Given the description of an element on the screen output the (x, y) to click on. 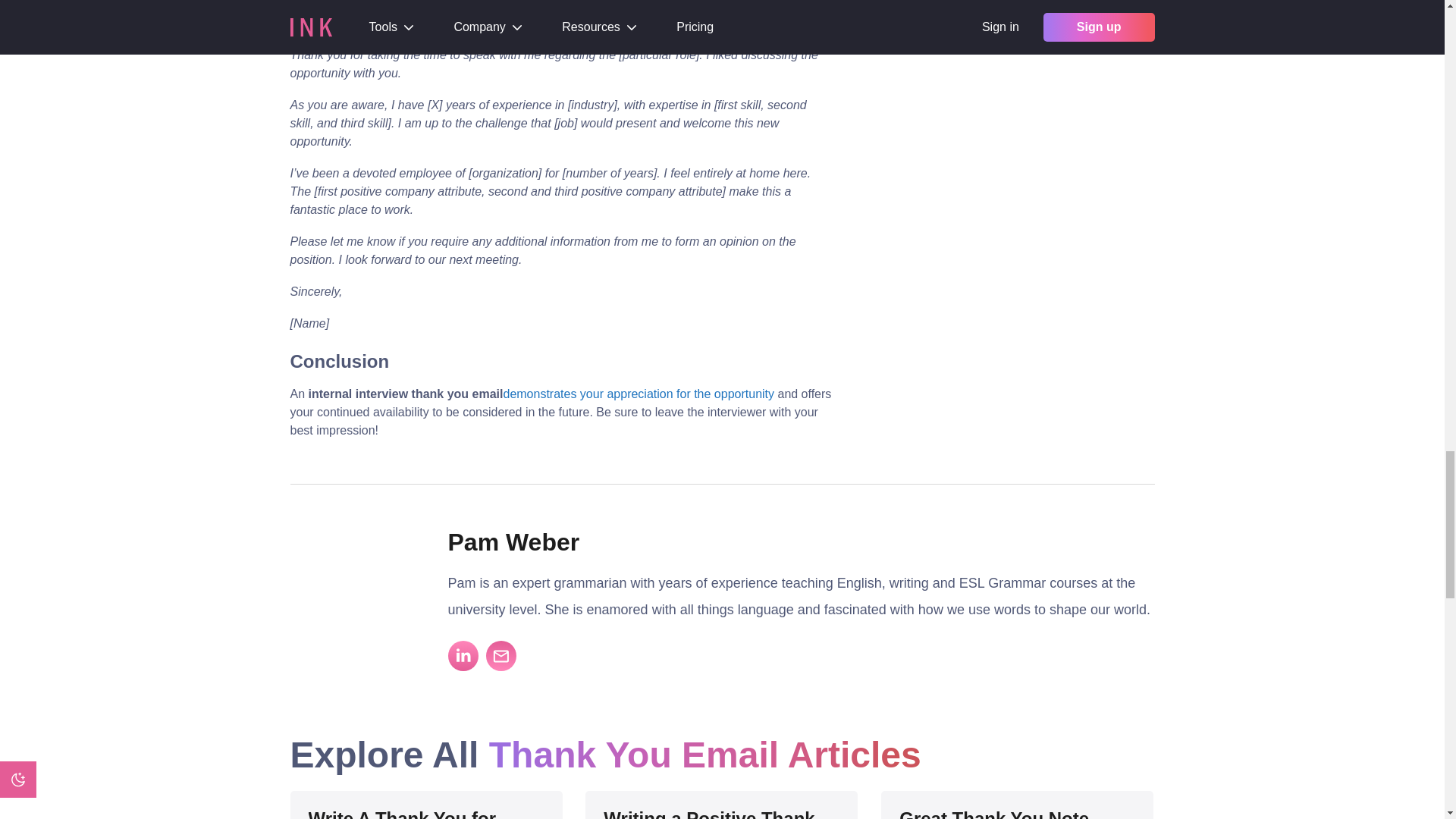
Pam Weber LinkedIn (461, 655)
Email Pam Weber (499, 655)
